Given the description of an element on the screen output the (x, y) to click on. 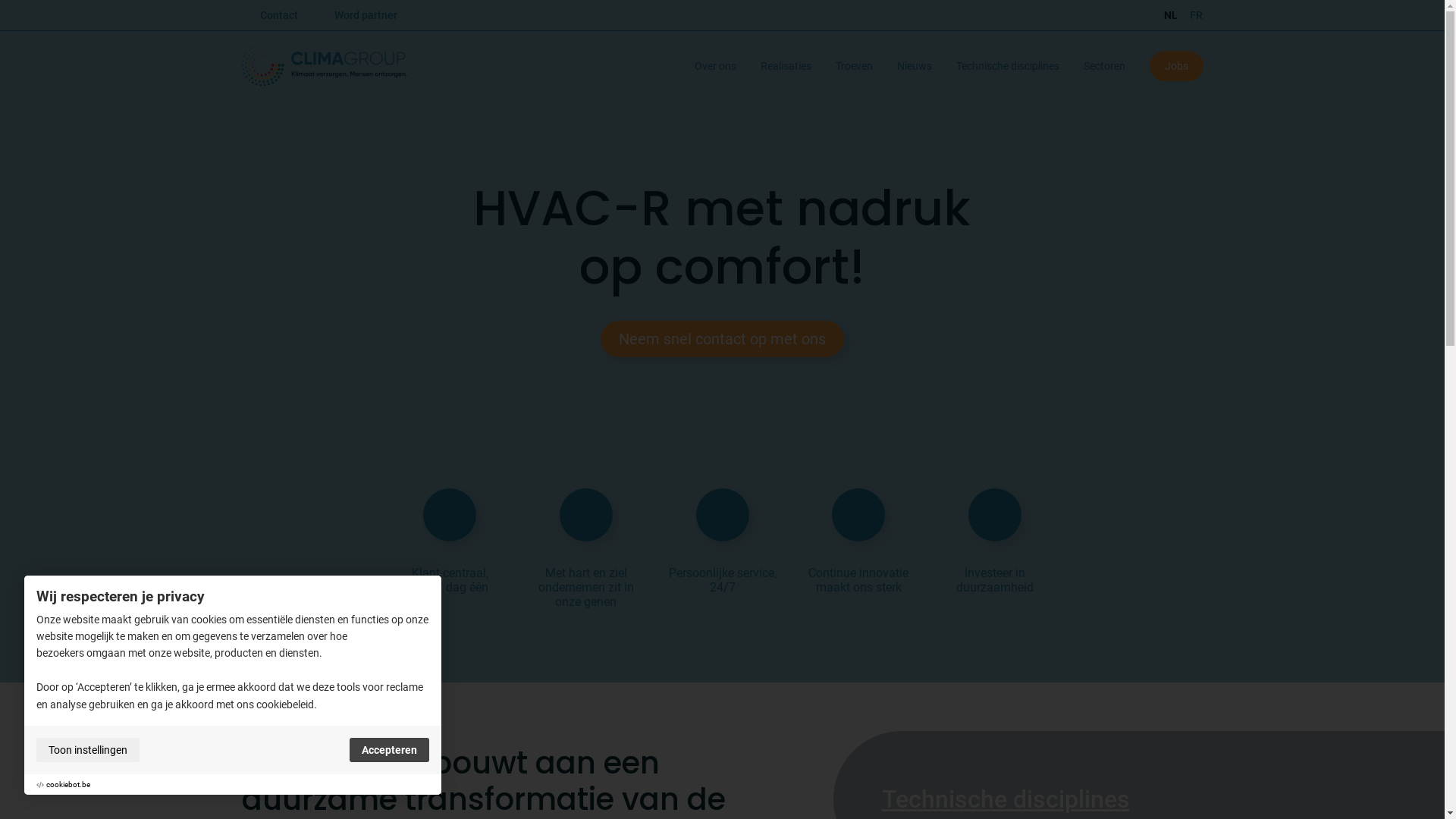
Neem snel contact op met ons Element type: text (722, 338)
Investeer in duurzaamheid Element type: text (994, 560)
Bekijk vacatures Element type: text (65, 705)
Nieuws Element type: text (913, 65)
Word partner Element type: text (364, 15)
Toon instellingen Element type: text (87, 749)
Sectoren Element type: text (1103, 65)
Over ons Element type: text (715, 65)
Realisaties Element type: text (784, 65)
cookiebot.be Element type: text (68, 784)
Continue innovatie maakt ons sterk Element type: text (858, 560)
Troeven Element type: text (853, 65)
Met hart en ziel ondernemen zit in onze genen Element type: text (586, 560)
Persoonlijke service, 24/7 Element type: text (722, 560)
Accepteren Element type: text (389, 749)
Bekijk vacatures Element type: text (62, 720)
Technische disciplines Element type: text (1006, 65)
Contact Element type: text (278, 15)
FR Element type: text (1192, 15)
NL Element type: text (1170, 15)
Climagroup Element type: hover (327, 65)
Jobs Element type: text (1176, 65)
